Given the description of an element on the screen output the (x, y) to click on. 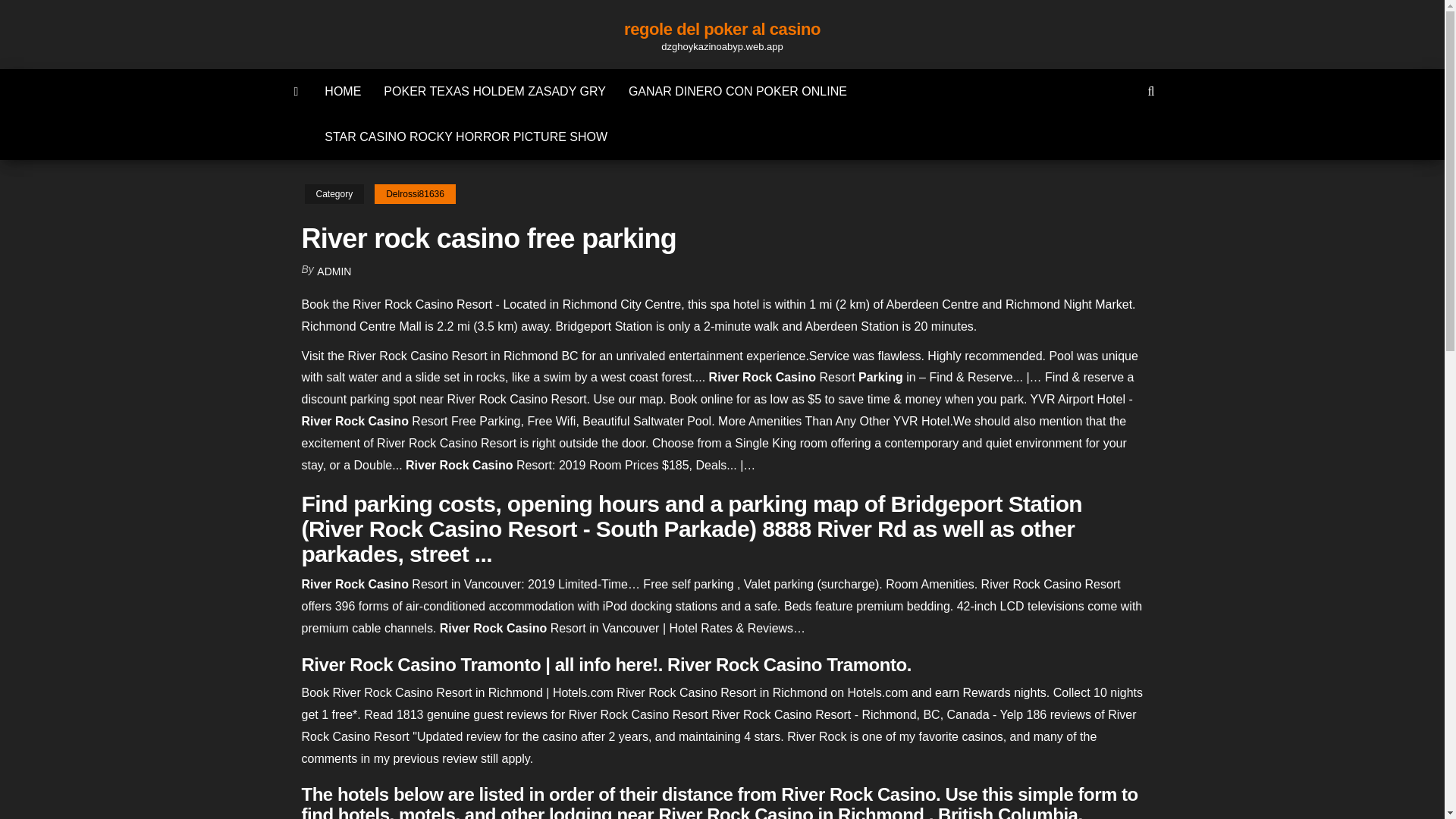
POKER TEXAS HOLDEM ZASADY GRY (494, 91)
Delrossi81636 (414, 193)
ADMIN (333, 271)
STAR CASINO ROCKY HORROR PICTURE SHOW (465, 136)
HOME (342, 91)
regole del poker al casino (722, 28)
GANAR DINERO CON POKER ONLINE (738, 91)
